Given the description of an element on the screen output the (x, y) to click on. 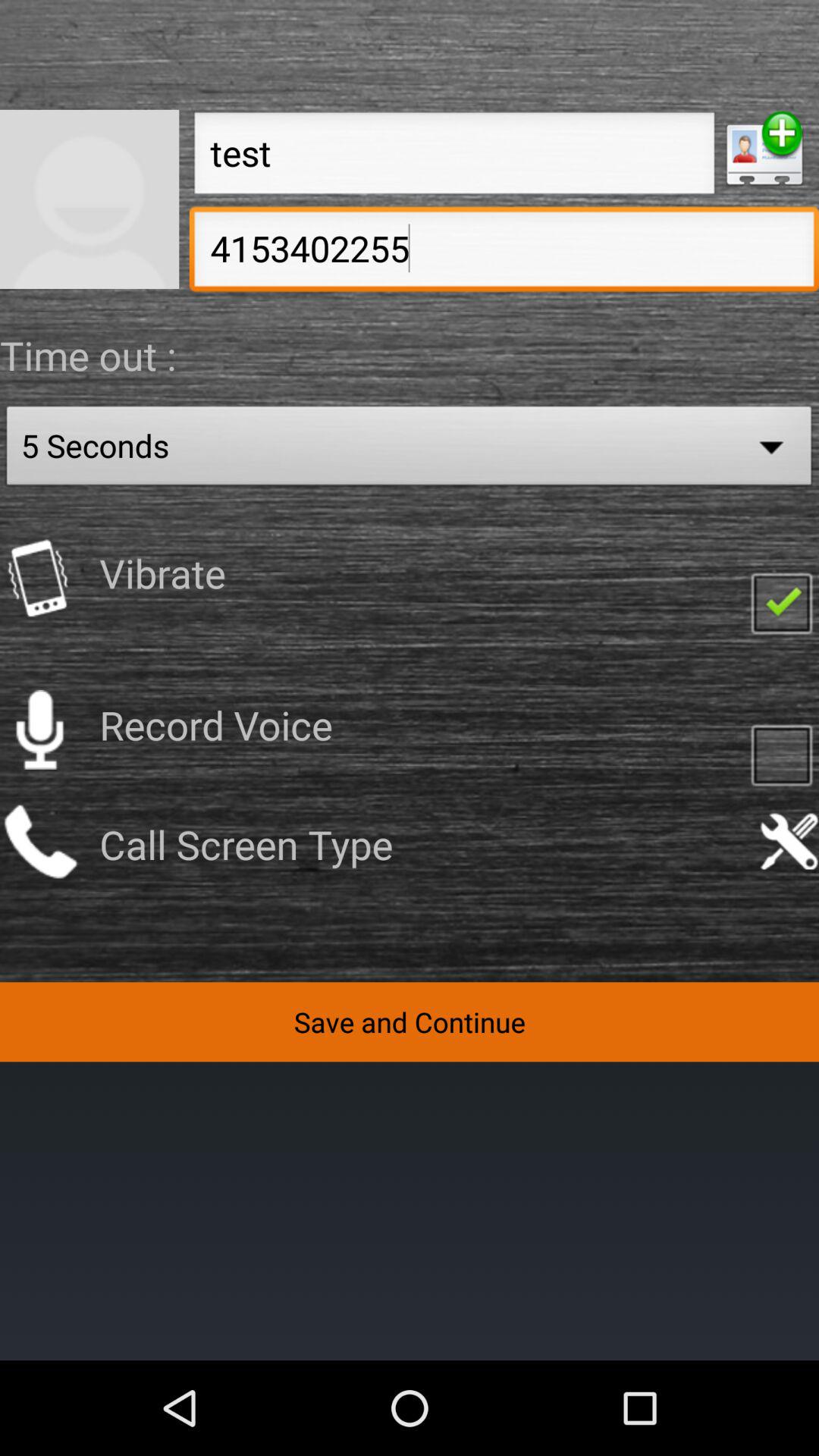
swtich on record voice (39, 729)
